Given the description of an element on the screen output the (x, y) to click on. 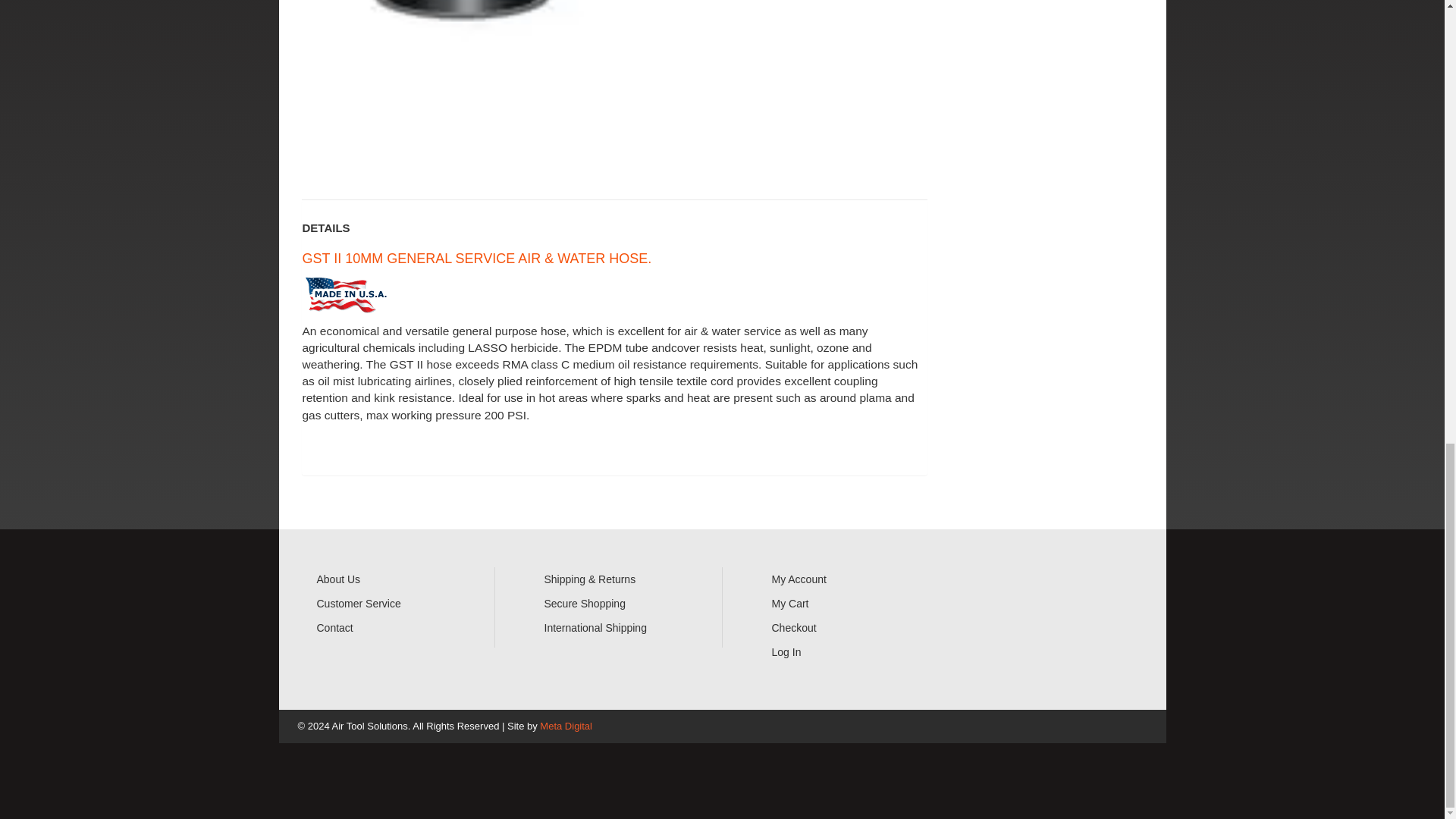
gstb10.jpg (457, 88)
